Given the description of an element on the screen output the (x, y) to click on. 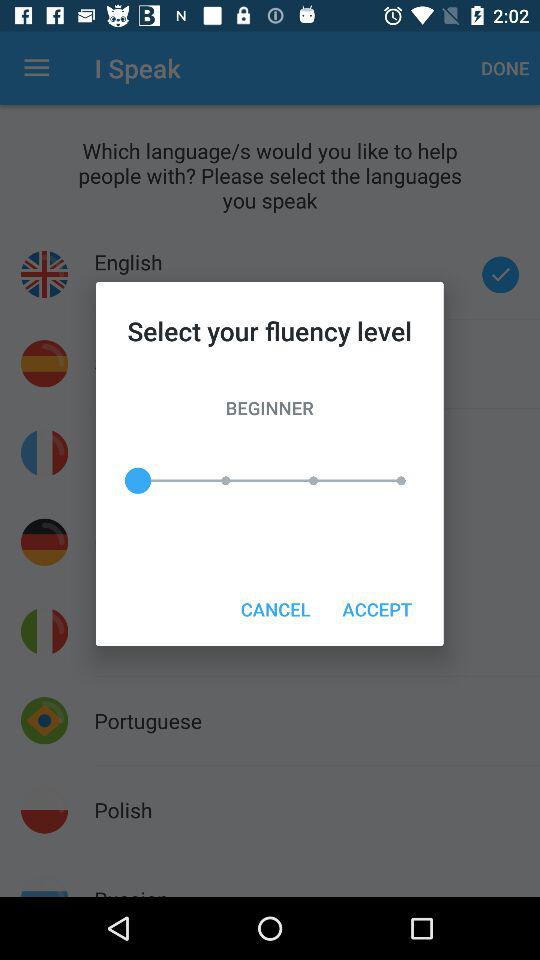
open the cancel item (275, 608)
